Given the description of an element on the screen output the (x, y) to click on. 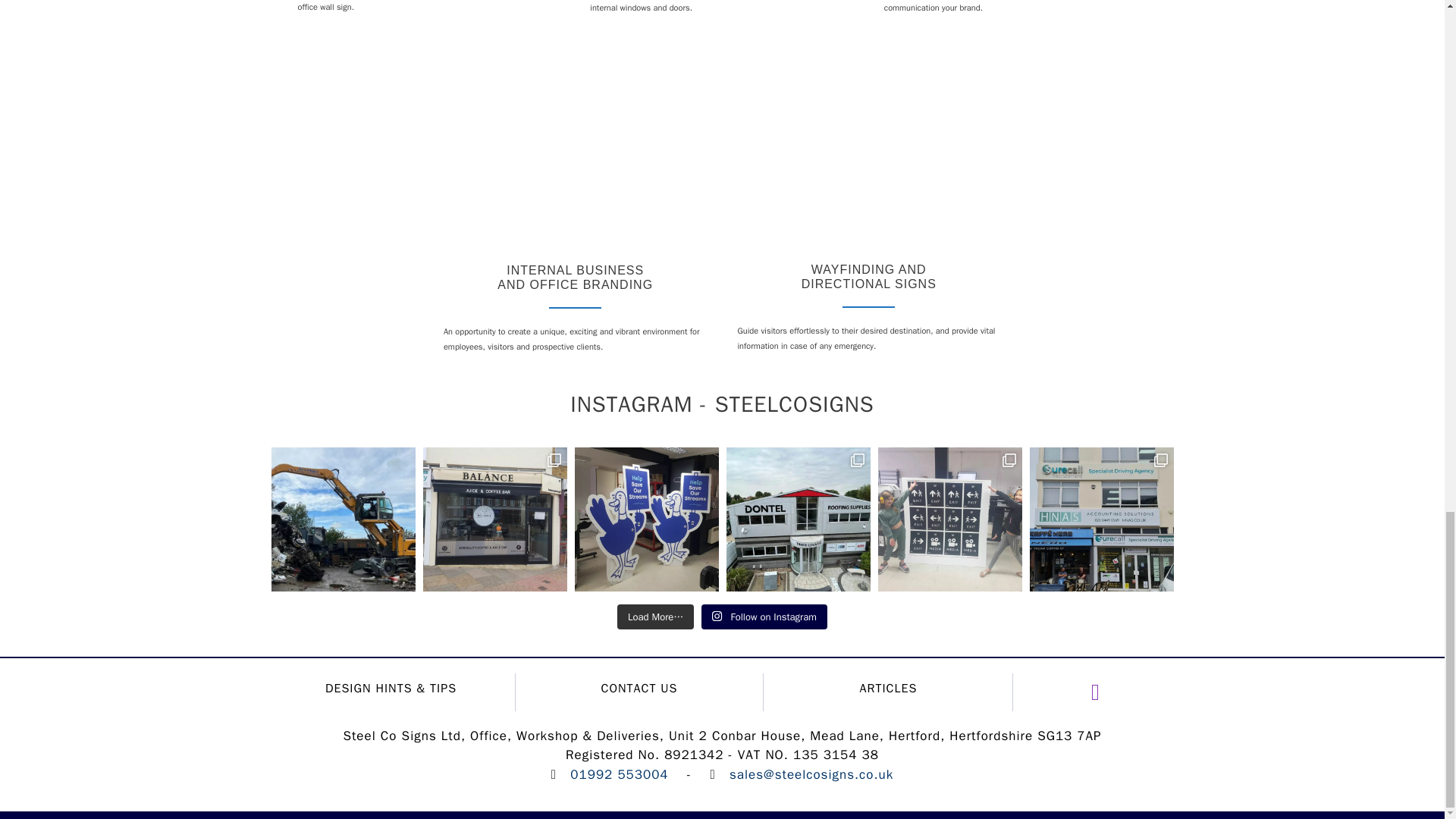
Wayfinding And Directional Signs (868, 151)
Internal Business Office Branding (575, 151)
